Given the description of an element on the screen output the (x, y) to click on. 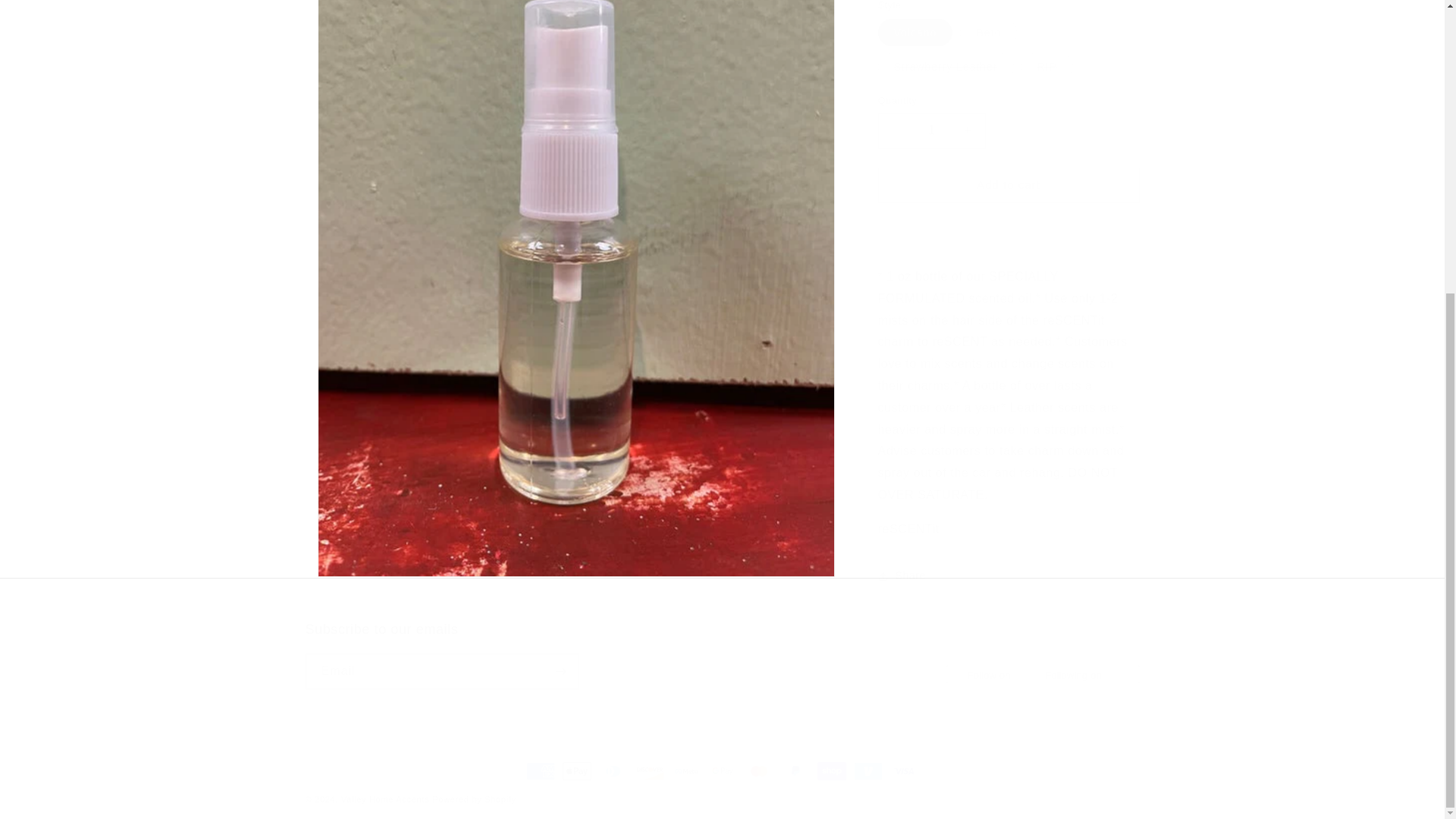
Open media 1 in modal (721, 654)
RIP (931, 119)
